Given the description of an element on the screen output the (x, y) to click on. 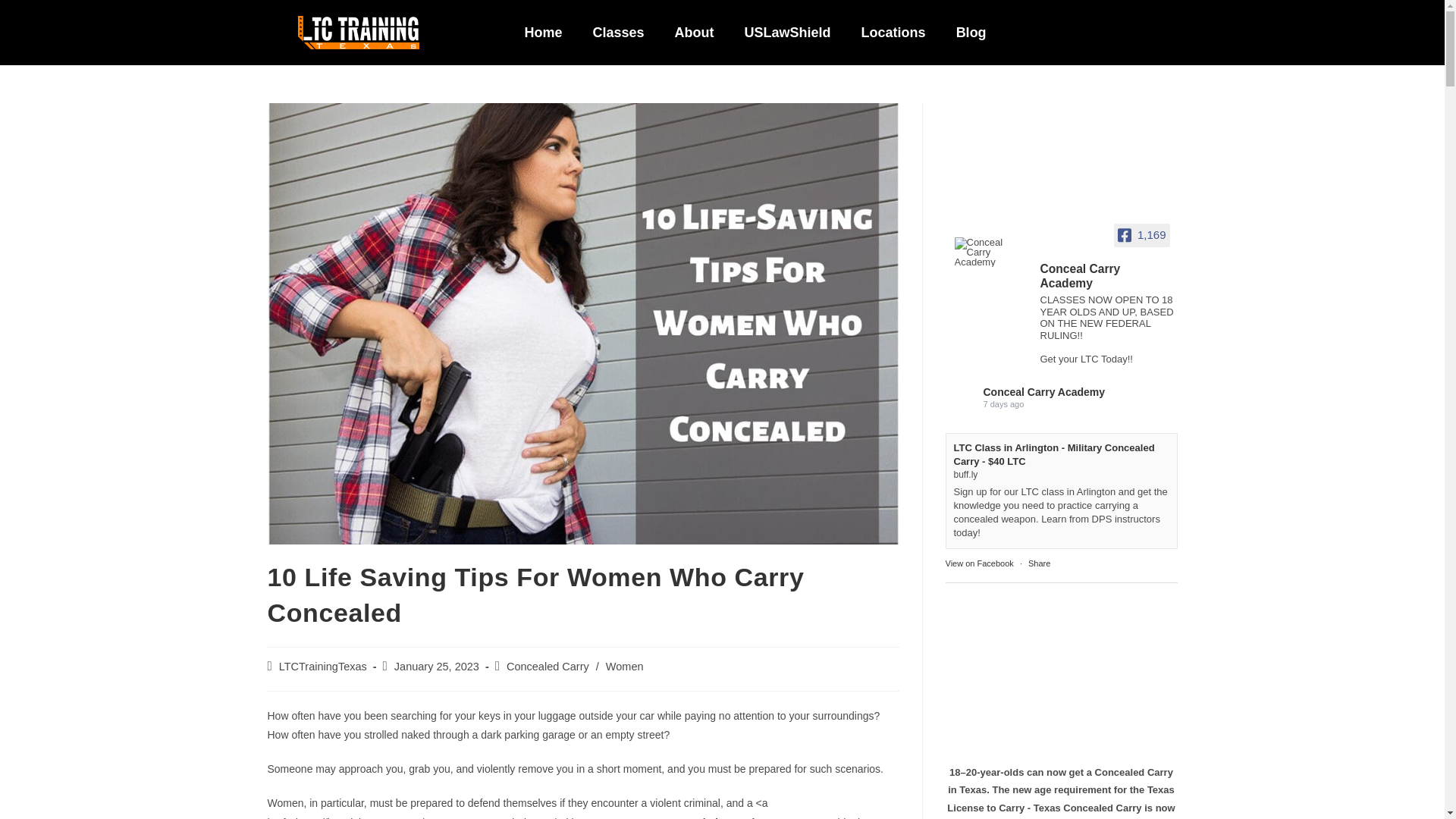
USLawShield (787, 32)
Home (543, 32)
Classes (618, 32)
Women (624, 666)
Locations (892, 32)
About (694, 32)
Concealed Carry (547, 666)
Posts by LTCTrainingTexas (322, 666)
Blog (970, 32)
Texas License to Carry (395, 32)
